Given the description of an element on the screen output the (x, y) to click on. 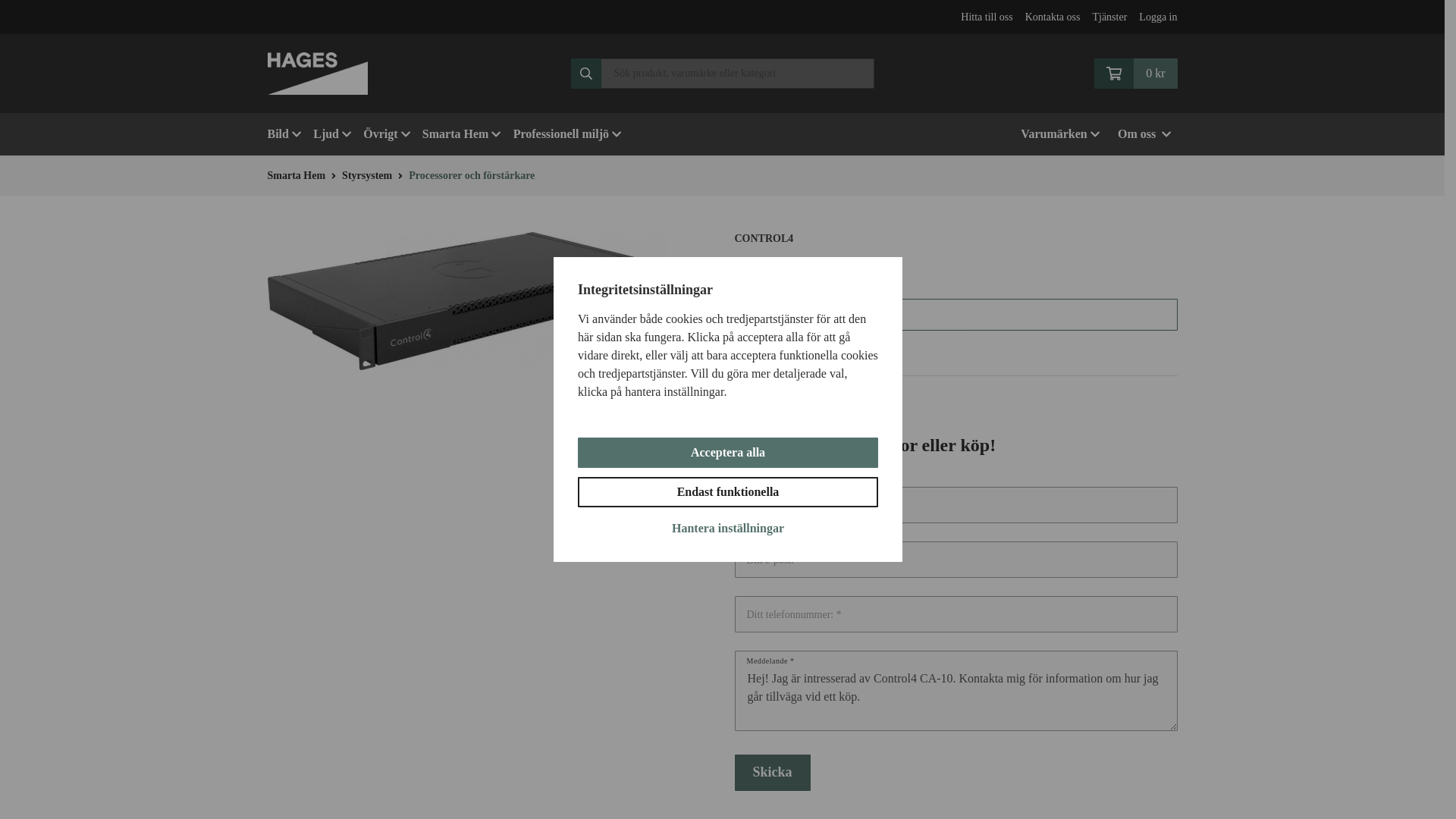
Logga in (1157, 17)
Kontakta oss (1052, 17)
Om oss (1144, 134)
Hitta till oss (985, 17)
on (742, 352)
Mer produktinformation (955, 313)
